Given the description of an element on the screen output the (x, y) to click on. 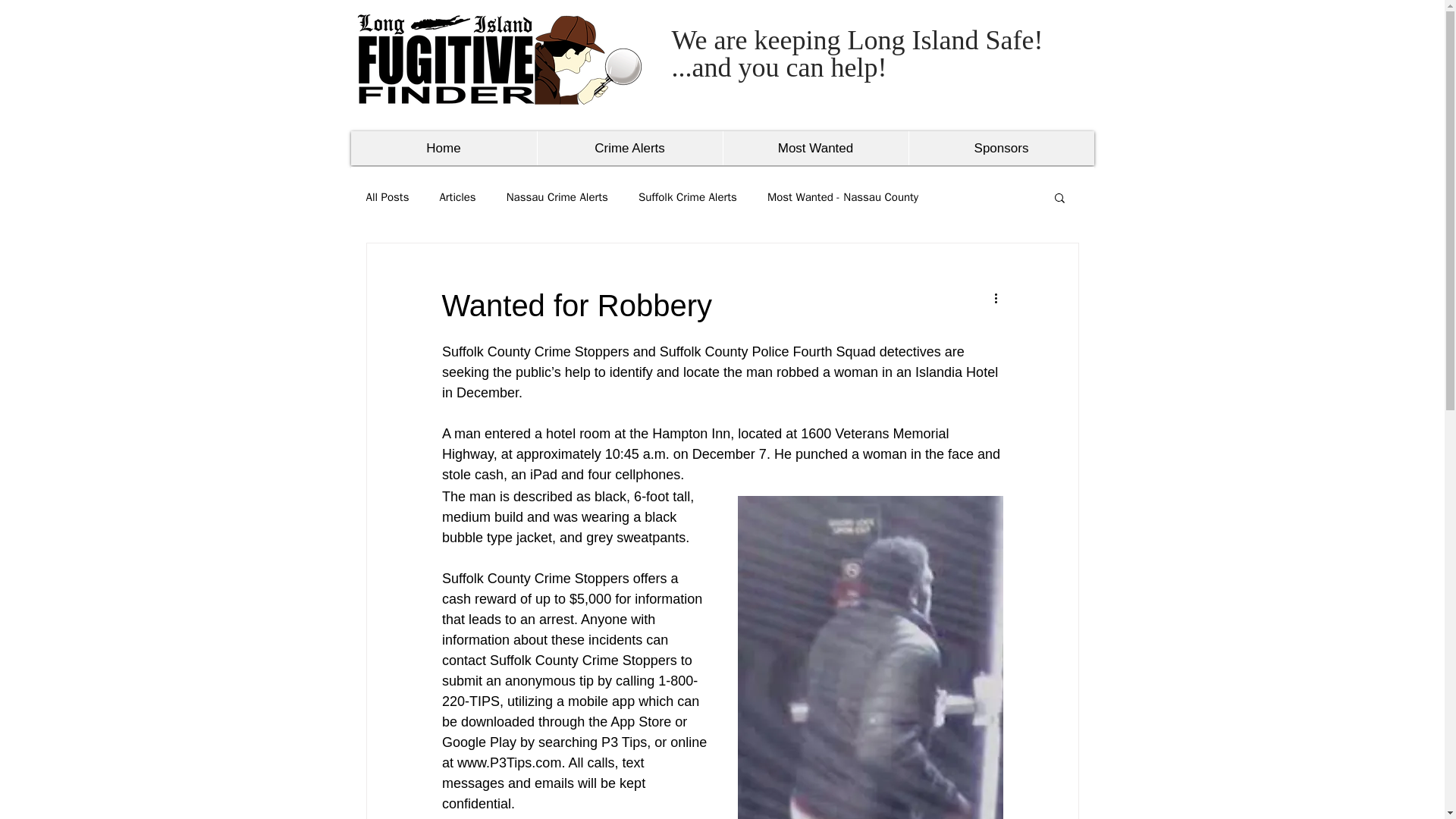
Sponsors (1001, 148)
Nassau Crime Alerts (557, 196)
Home (442, 148)
Most Wanted - Nassau County (842, 196)
Articles (457, 196)
All Posts (387, 196)
Suffolk Crime Alerts (687, 196)
